Given the description of an element on the screen output the (x, y) to click on. 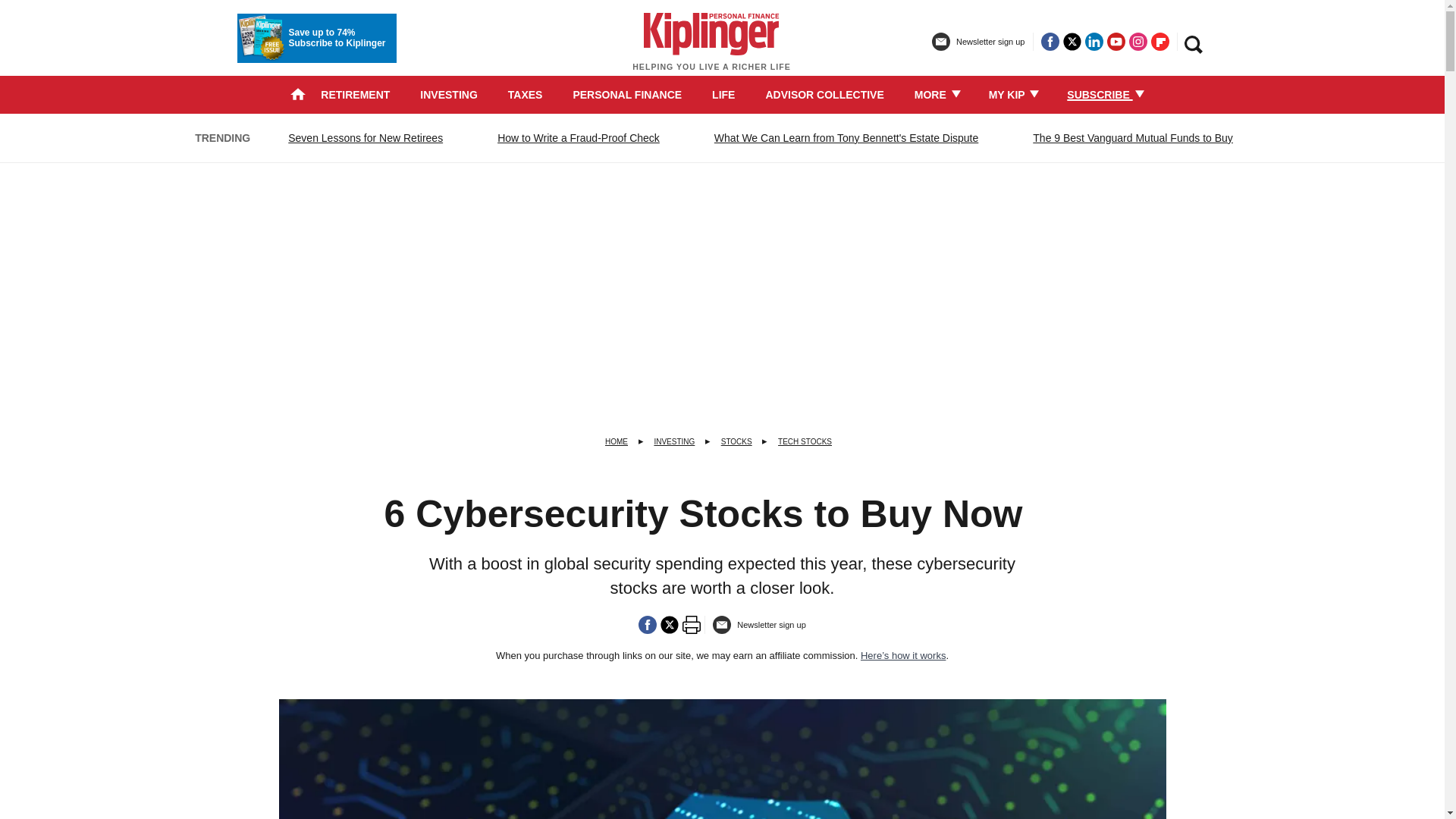
RETIREMENT (355, 94)
LIFE (723, 94)
HELPING YOU LIVE A RICHER LIFE (710, 48)
TAXES (525, 94)
PERSONAL FINANCE (626, 94)
INVESTING (448, 94)
